Given the description of an element on the screen output the (x, y) to click on. 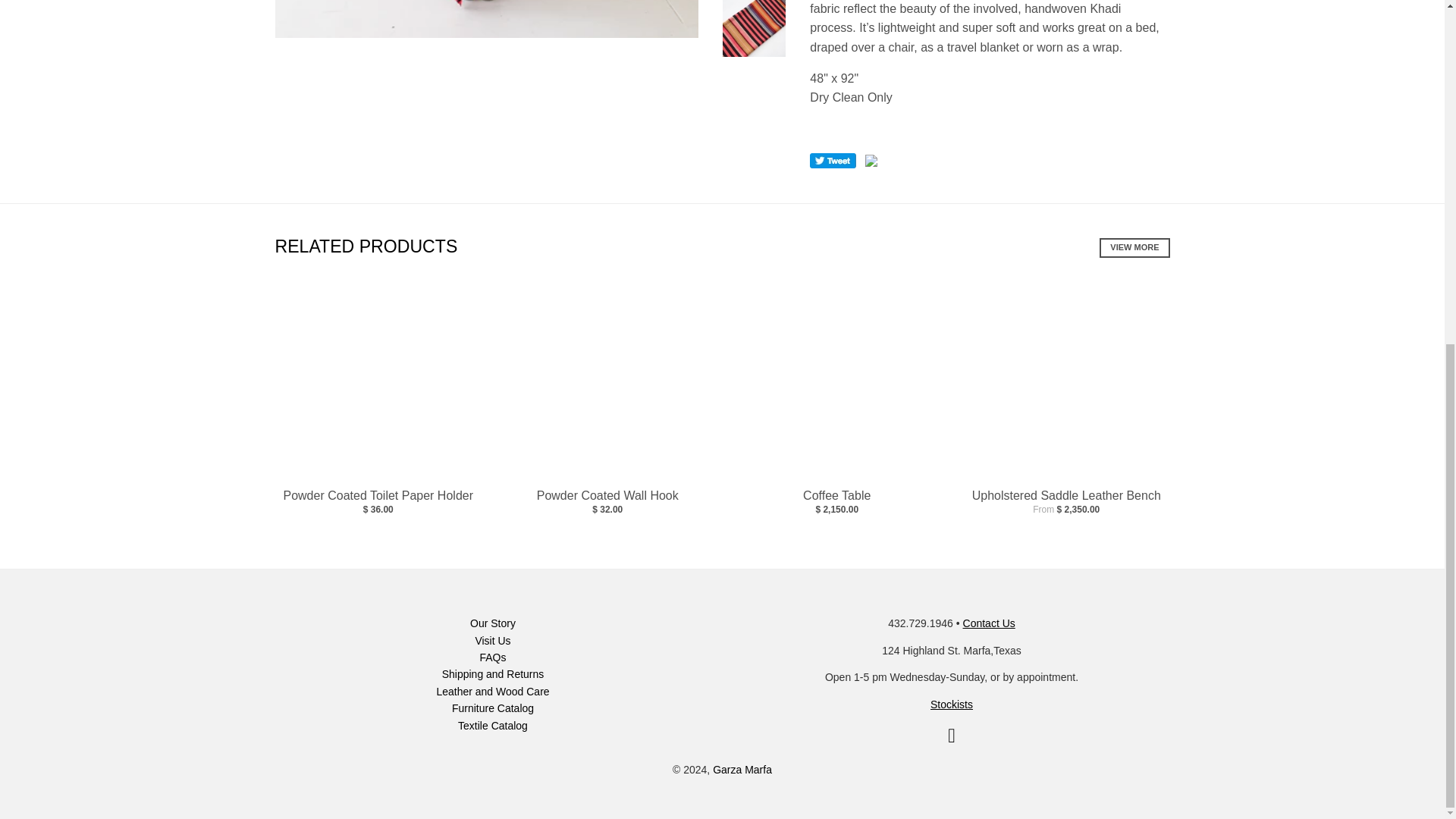
VIEW MORE (1134, 247)
Retail Partners (951, 704)
Tweet (832, 160)
